Given the description of an element on the screen output the (x, y) to click on. 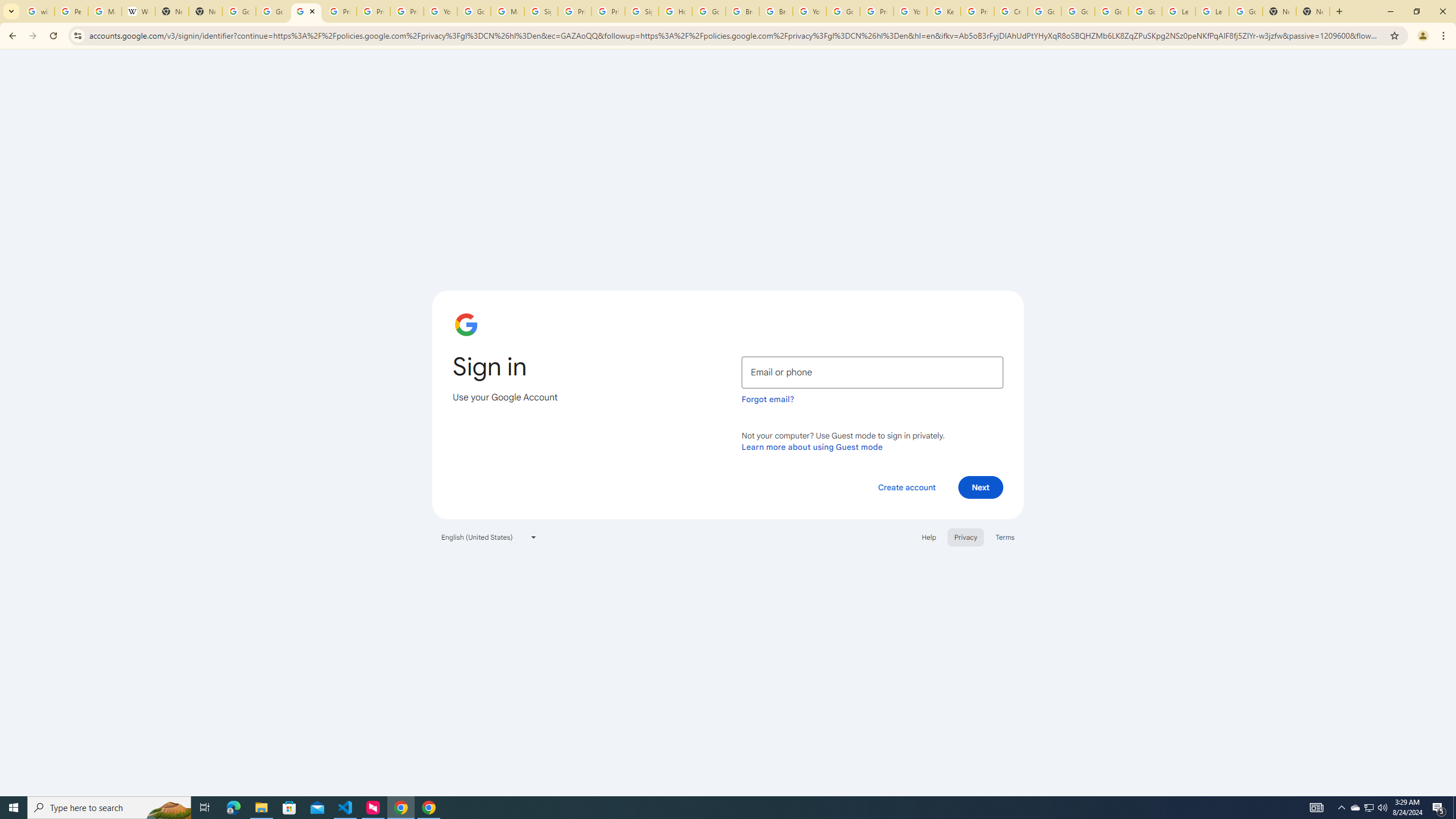
Address and search bar (735, 35)
Google Account (1246, 11)
Create account (905, 486)
Google Account Help (1043, 11)
Forgot email? (767, 398)
Google Account Help (1144, 11)
Next (980, 486)
